Given the description of an element on the screen output the (x, y) to click on. 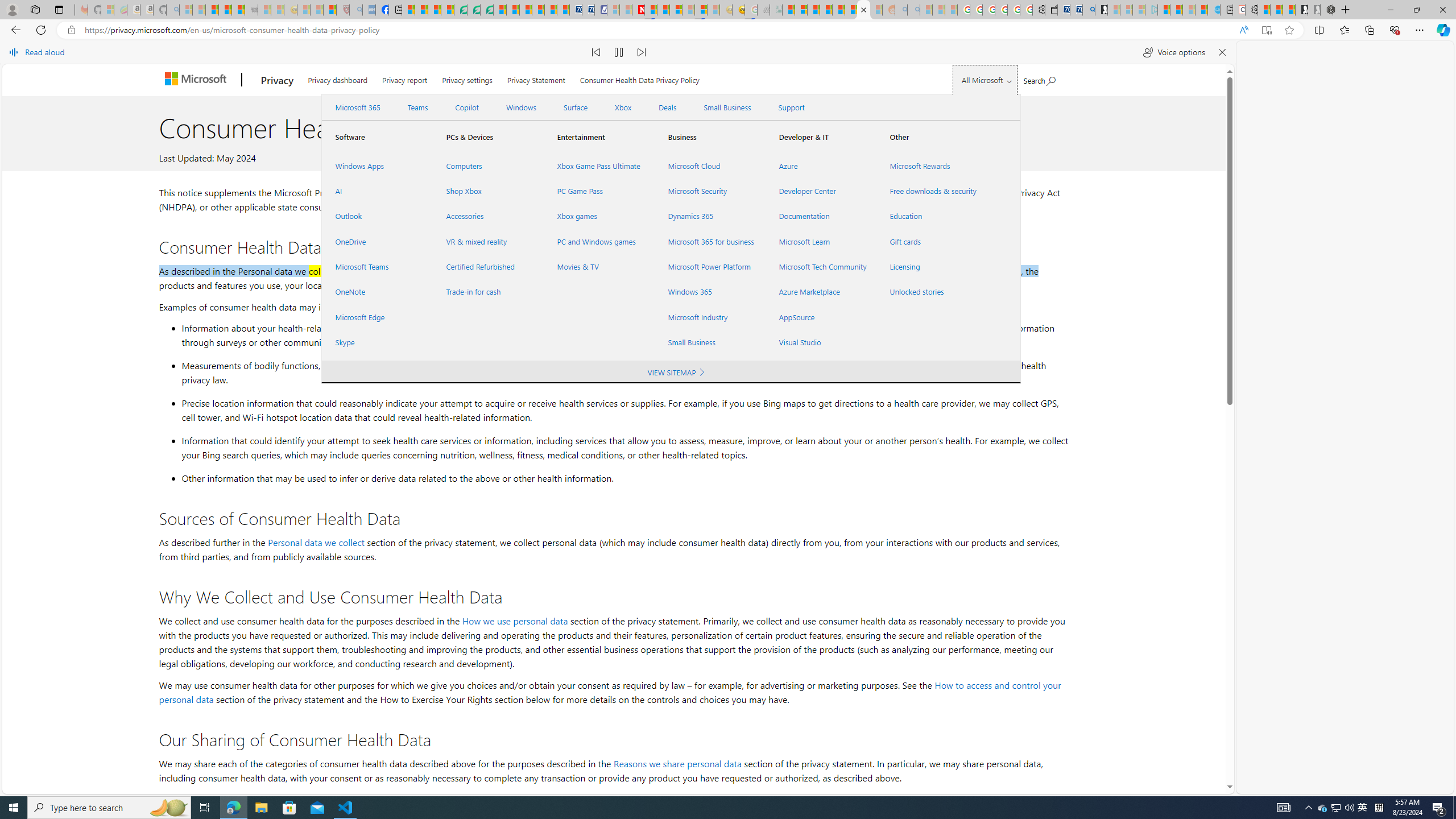
VR & mixed reality (487, 240)
Privacy dashboard (337, 77)
Developer Center (820, 190)
AI (376, 190)
Accessories (487, 216)
Cheap Car Rentals - Save70.com (1076, 9)
Visual Studio (820, 342)
Reasons we share personal data (676, 762)
DITOGAMES AG Imprint - Sleeping (775, 9)
PC Game Pass (599, 190)
